Given the description of an element on the screen output the (x, y) to click on. 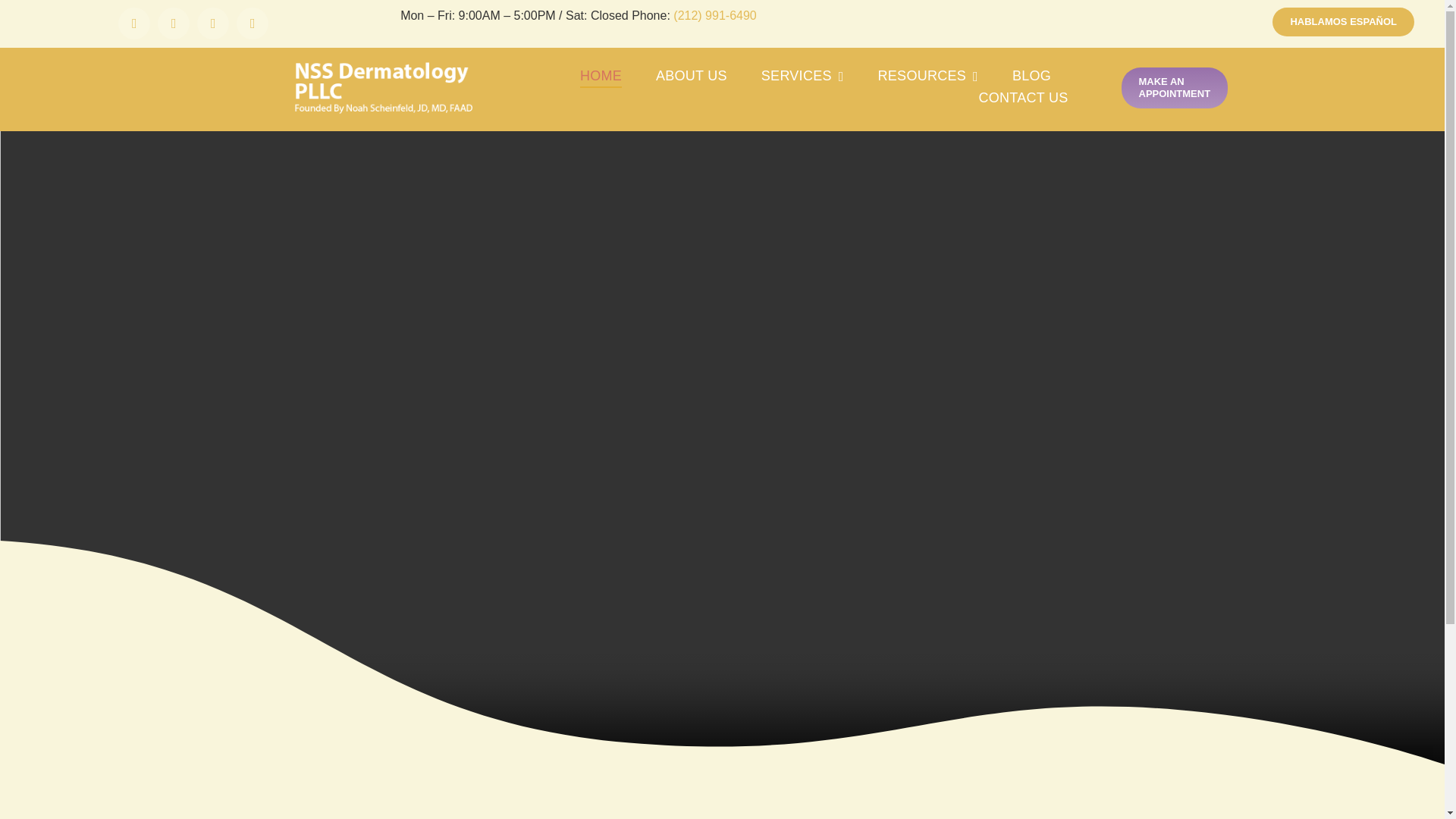
HOME (600, 76)
SERVICES (802, 76)
Google (212, 23)
ABOUT US (691, 76)
Phone (251, 23)
Facebook (133, 23)
Twitter (173, 23)
